Given the description of an element on the screen output the (x, y) to click on. 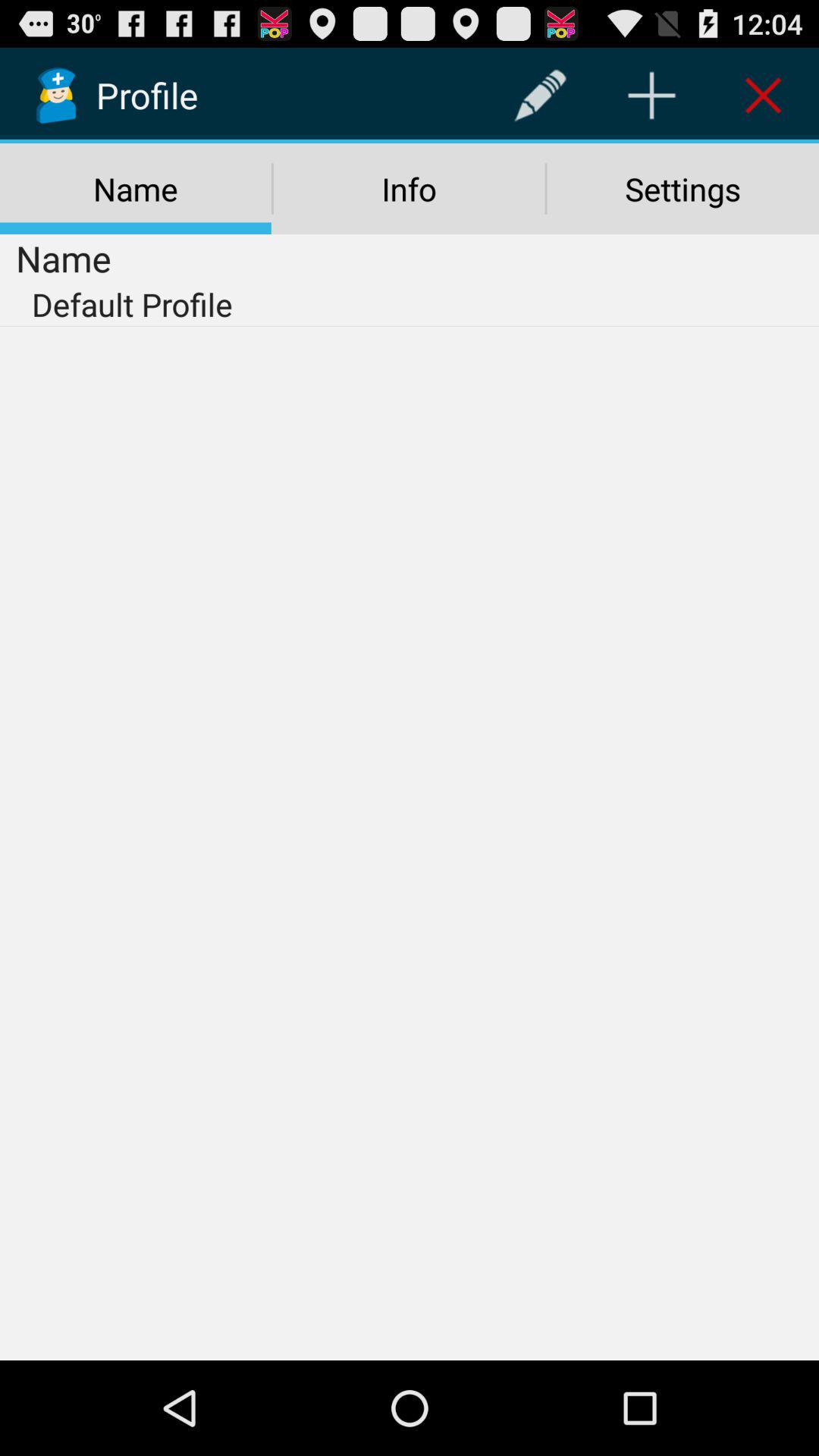
turn off the item above info icon (540, 95)
